Given the description of an element on the screen output the (x, y) to click on. 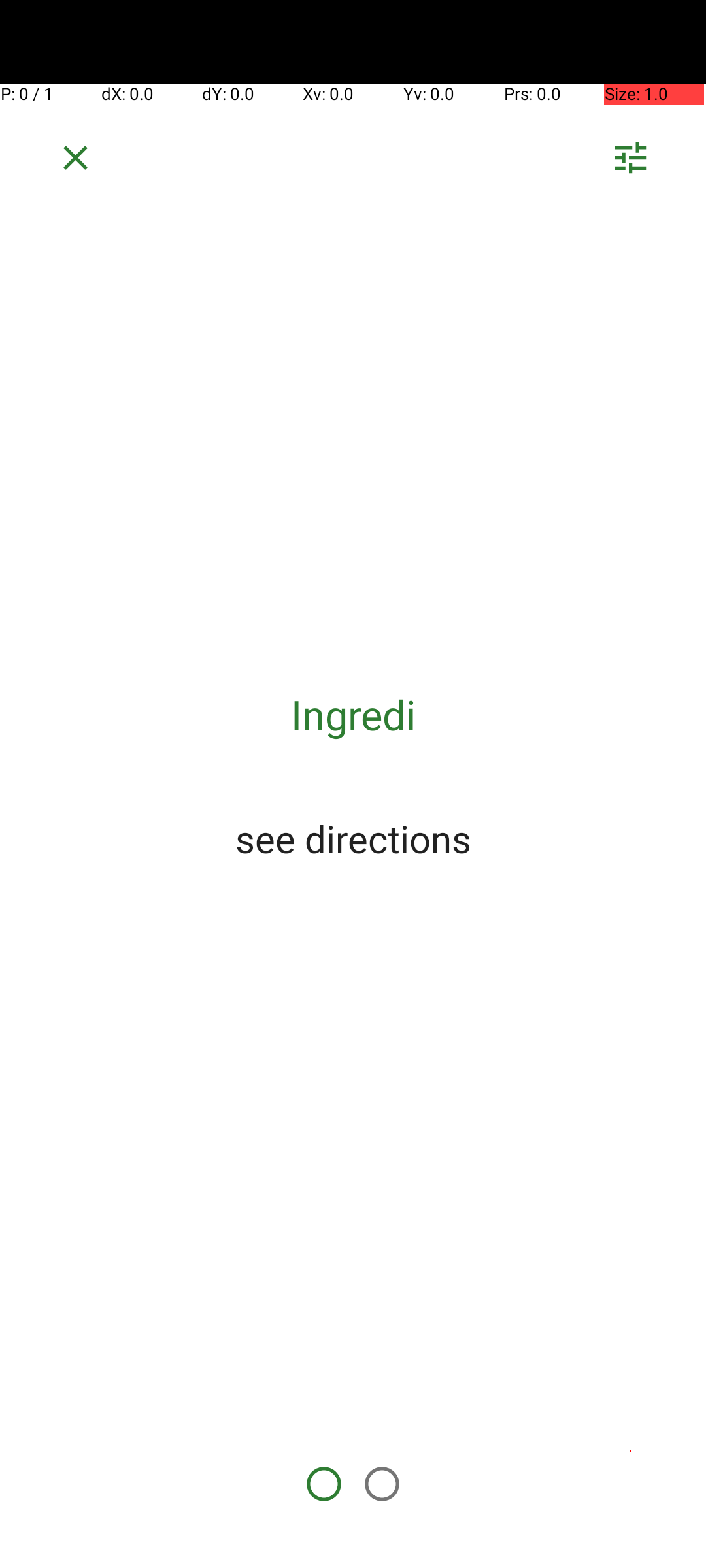
Adjust ingredients Element type: android.widget.Button (630, 161)
Ingredients Element type: android.widget.TextView (352, 714)
see directions Element type: android.widget.TextView (352, 838)
